Given the description of an element on the screen output the (x, y) to click on. 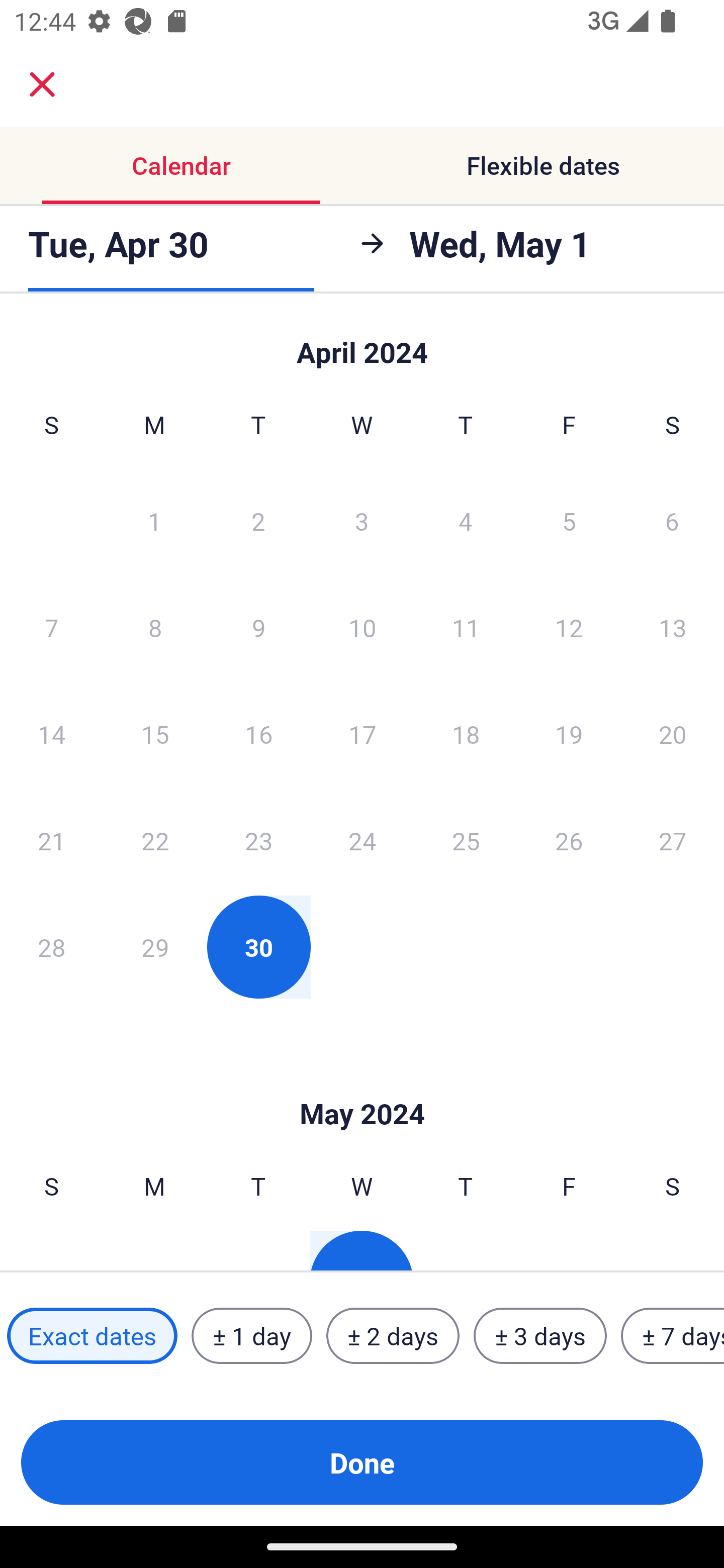
close. (42, 84)
Flexible dates (542, 164)
Skip to Done (362, 343)
1 Monday, April 1, 2024 (154, 520)
2 Tuesday, April 2, 2024 (257, 520)
3 Wednesday, April 3, 2024 (361, 520)
4 Thursday, April 4, 2024 (465, 520)
5 Friday, April 5, 2024 (568, 520)
6 Saturday, April 6, 2024 (672, 520)
7 Sunday, April 7, 2024 (51, 626)
8 Monday, April 8, 2024 (155, 626)
9 Tuesday, April 9, 2024 (258, 626)
10 Wednesday, April 10, 2024 (362, 626)
11 Thursday, April 11, 2024 (465, 626)
12 Friday, April 12, 2024 (569, 626)
13 Saturday, April 13, 2024 (672, 626)
14 Sunday, April 14, 2024 (51, 733)
15 Monday, April 15, 2024 (155, 733)
16 Tuesday, April 16, 2024 (258, 733)
17 Wednesday, April 17, 2024 (362, 733)
18 Thursday, April 18, 2024 (465, 733)
19 Friday, April 19, 2024 (569, 733)
20 Saturday, April 20, 2024 (672, 733)
21 Sunday, April 21, 2024 (51, 840)
22 Monday, April 22, 2024 (155, 840)
23 Tuesday, April 23, 2024 (258, 840)
24 Wednesday, April 24, 2024 (362, 840)
25 Thursday, April 25, 2024 (465, 840)
26 Friday, April 26, 2024 (569, 840)
27 Saturday, April 27, 2024 (672, 840)
28 Sunday, April 28, 2024 (51, 946)
29 Monday, April 29, 2024 (155, 946)
Skip to Done (362, 1083)
Exact dates (92, 1335)
± 1 day (251, 1335)
± 2 days (392, 1335)
± 3 days (539, 1335)
± 7 days (672, 1335)
Done (361, 1462)
